Given the description of an element on the screen output the (x, y) to click on. 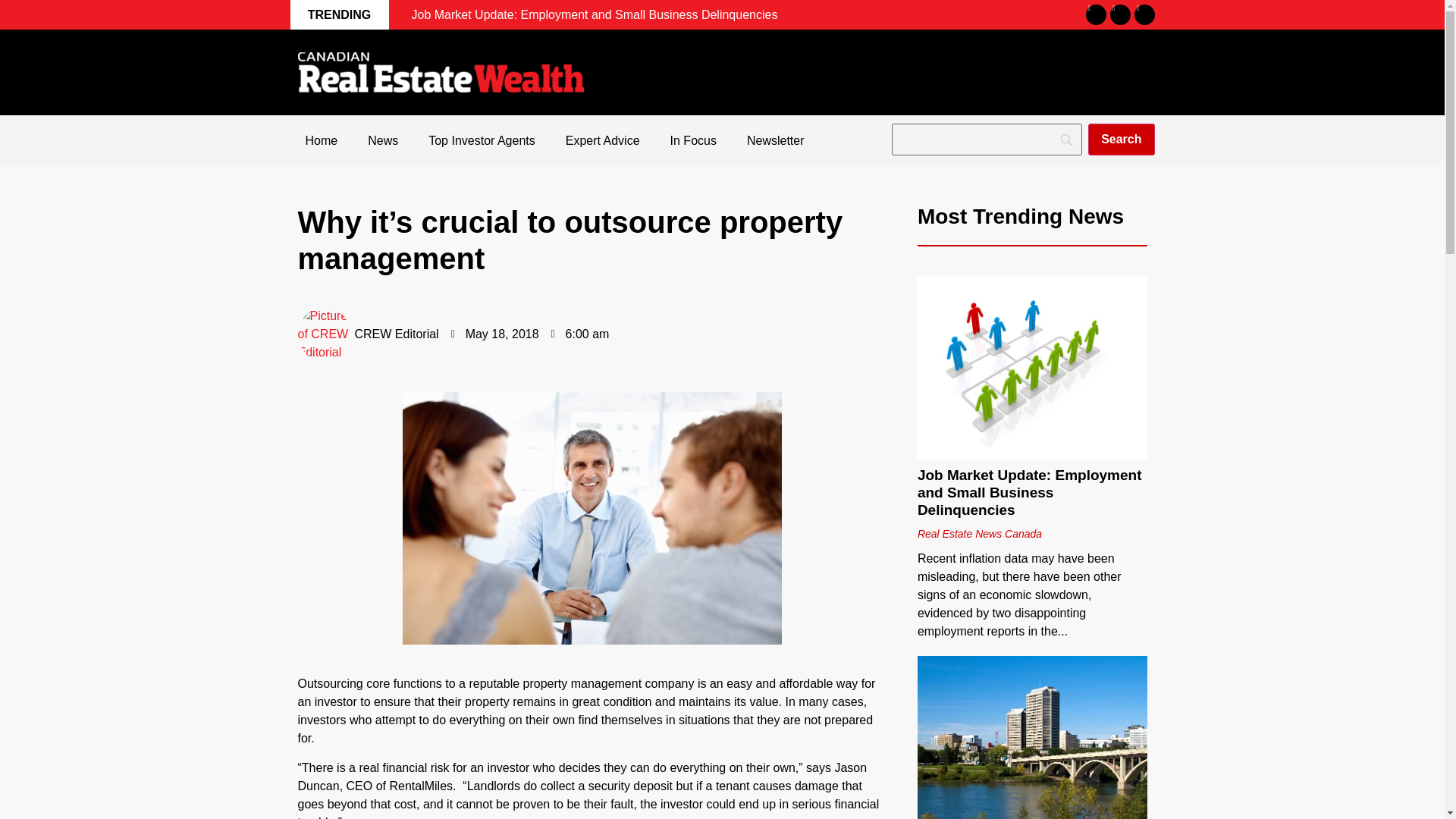
Home (320, 140)
Search (1120, 139)
In Focus (693, 140)
News (382, 140)
Search (1120, 139)
Search (1120, 139)
CREW Editorial (367, 334)
Top Investor Agents (481, 140)
Newsletter (775, 140)
